Given the description of an element on the screen output the (x, y) to click on. 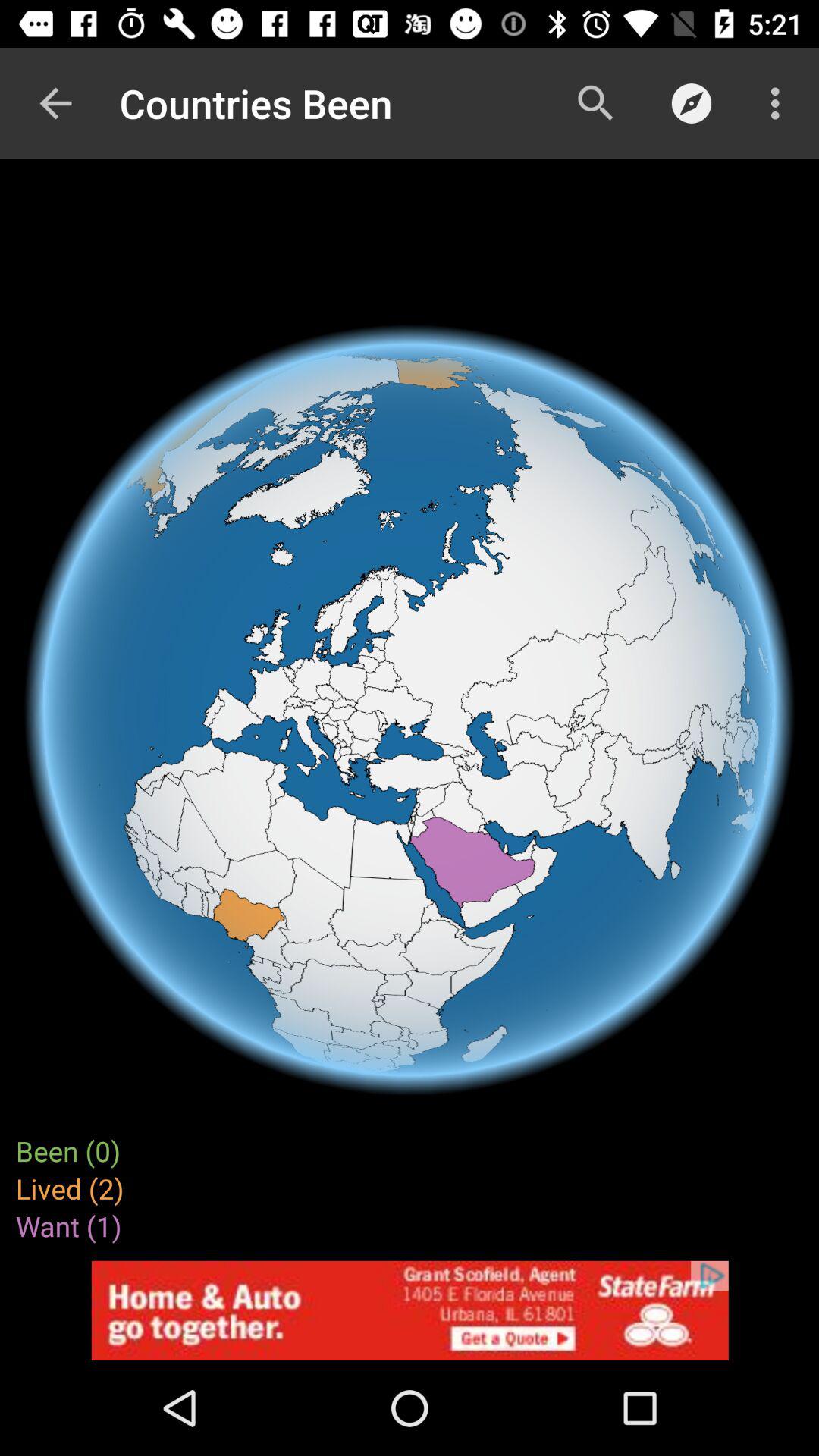
advertisement area (409, 1310)
